Given the description of an element on the screen output the (x, y) to click on. 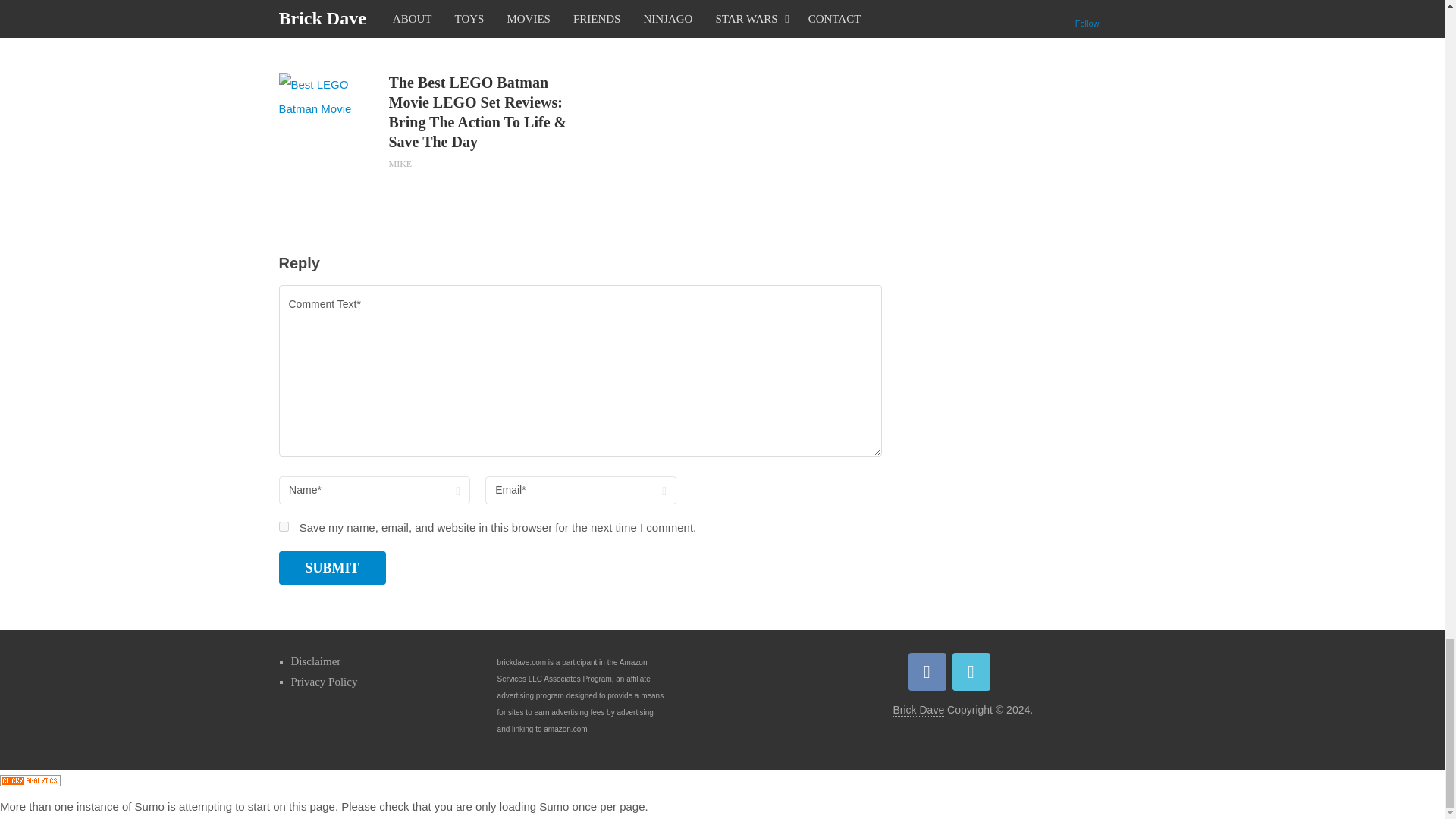
Posts by Mike (400, 163)
Submit (332, 567)
Posts by Dave (400, 33)
Submit (332, 567)
MIKE (400, 163)
yes (283, 526)
DAVE (400, 33)
